Given the description of an element on the screen output the (x, y) to click on. 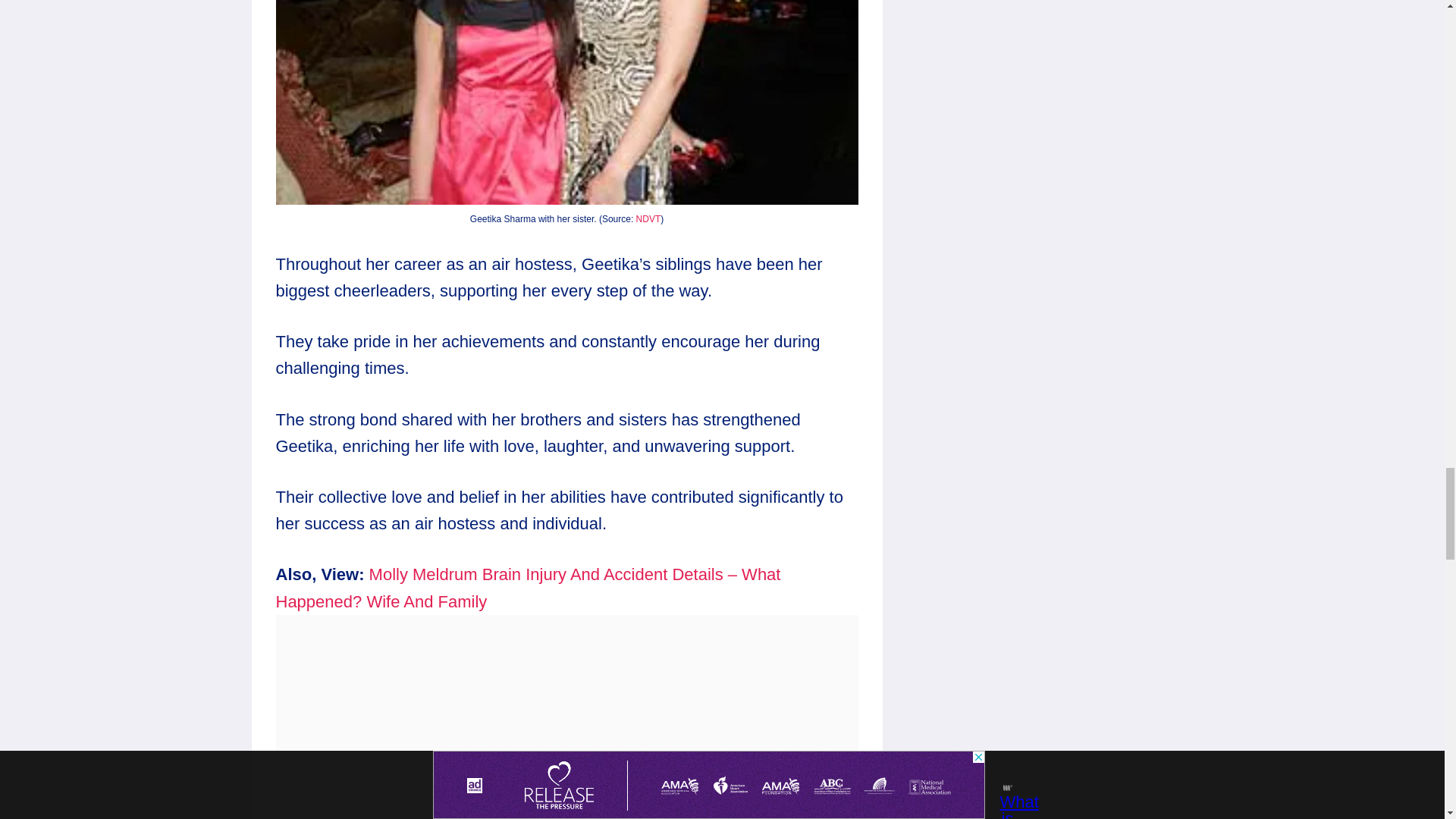
NDVT (648, 218)
